Given the description of an element on the screen output the (x, y) to click on. 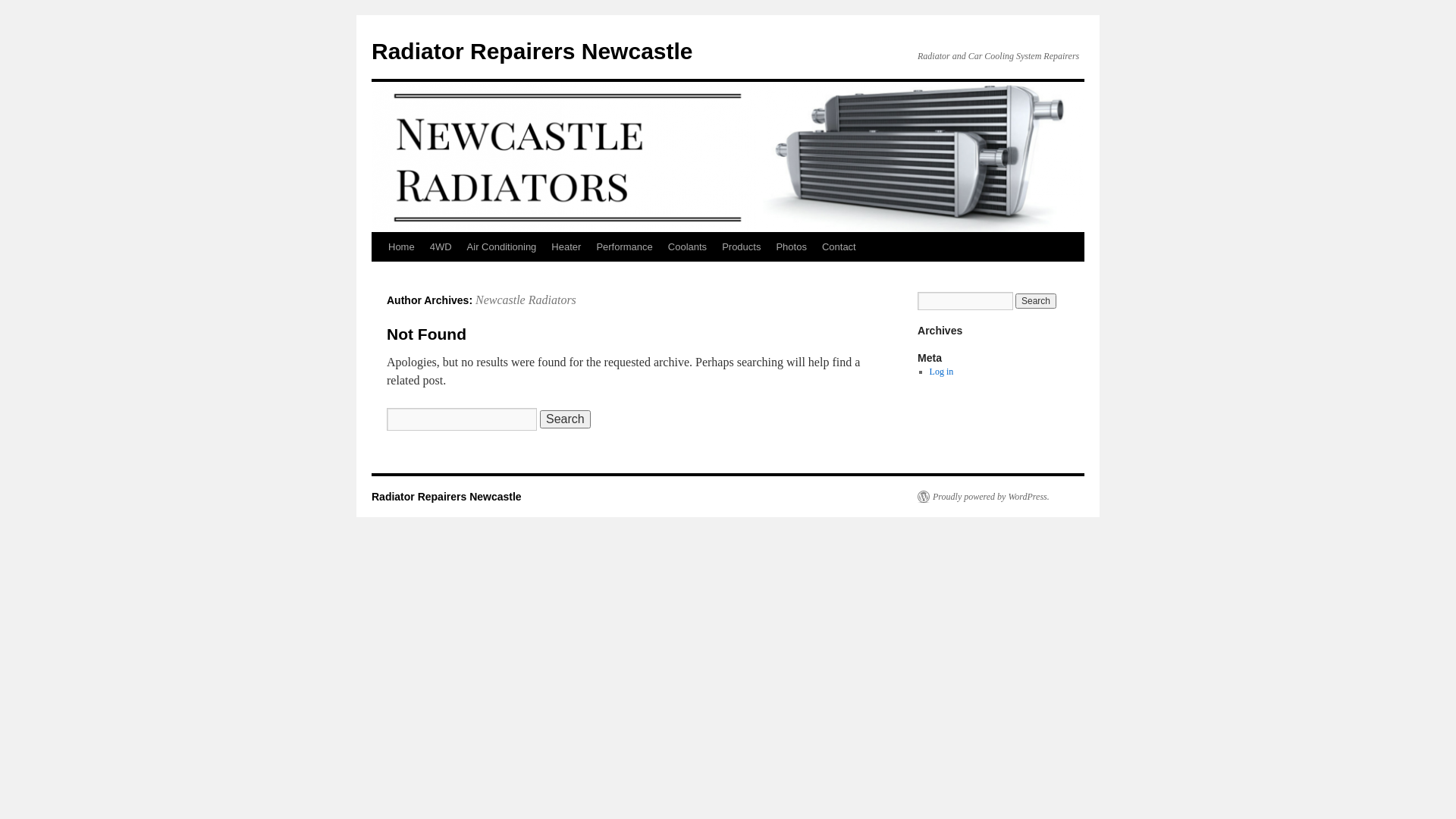
Search Element type: text (1035, 300)
Air Conditioning Element type: text (501, 246)
Search Element type: text (564, 419)
4WD Element type: text (440, 246)
Radiator Repairers Newcastle Element type: text (532, 50)
Home Element type: text (401, 246)
Heater Element type: text (565, 246)
Performance Element type: text (623, 246)
Contact Element type: text (838, 246)
Log in Element type: text (941, 371)
Skip to content Element type: text (377, 275)
Newcastle Radiators Element type: text (525, 299)
Radiator Repairers Newcastle Element type: text (446, 496)
Proudly powered by WordPress. Element type: text (983, 496)
Photos Element type: text (790, 246)
Coolants Element type: text (687, 246)
Products Element type: text (741, 246)
